Given the description of an element on the screen output the (x, y) to click on. 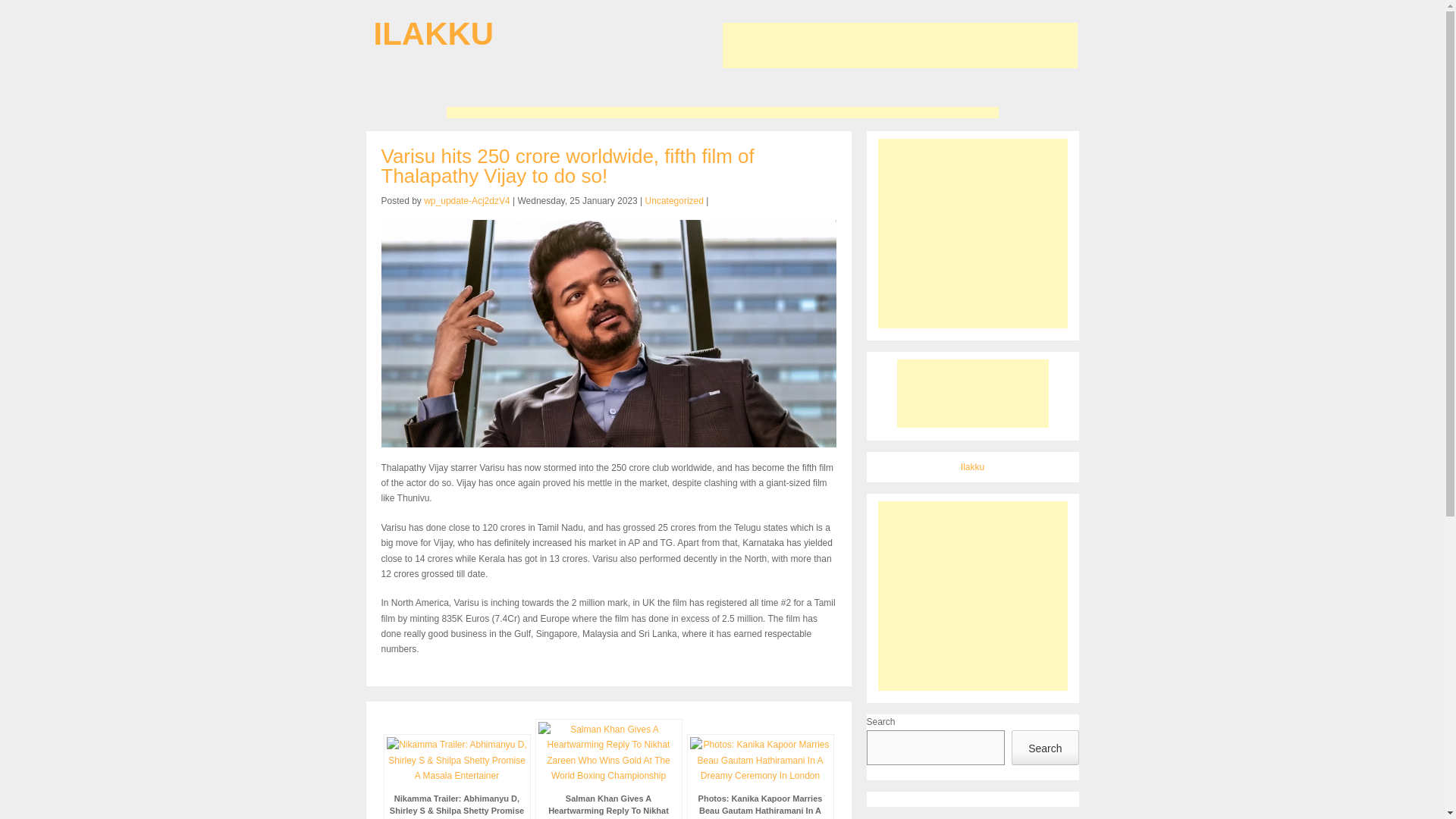
Advertisement (721, 112)
Ilakku (972, 466)
ilakku (432, 33)
ILAKKU (432, 33)
Uncategorized (674, 200)
Search (1044, 747)
Advertisement (899, 44)
